Given the description of an element on the screen output the (x, y) to click on. 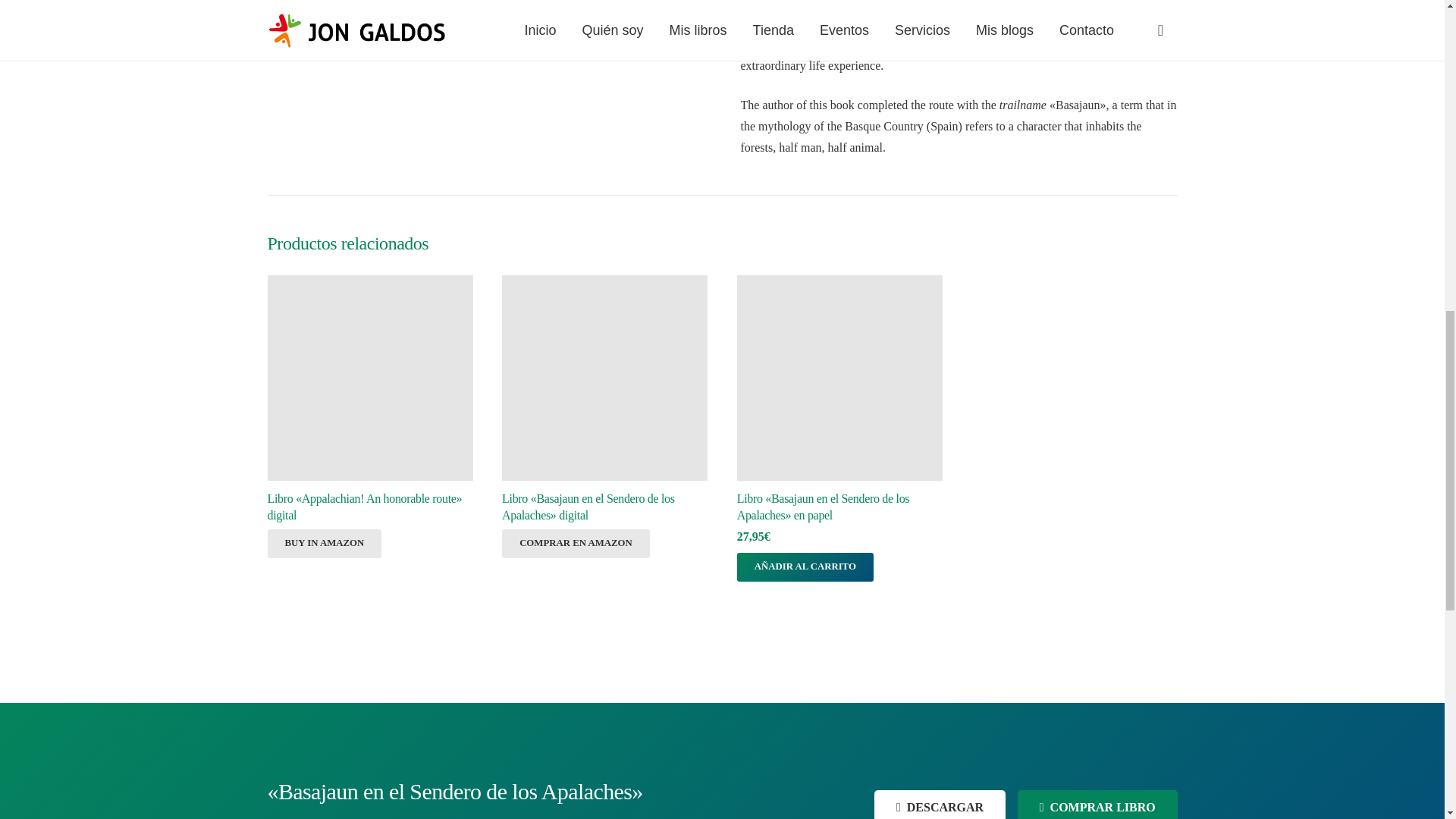
Volver arriba (1413, 30)
Shop Without Sidebar (1097, 804)
Suscribirse (940, 804)
